Given the description of an element on the screen output the (x, y) to click on. 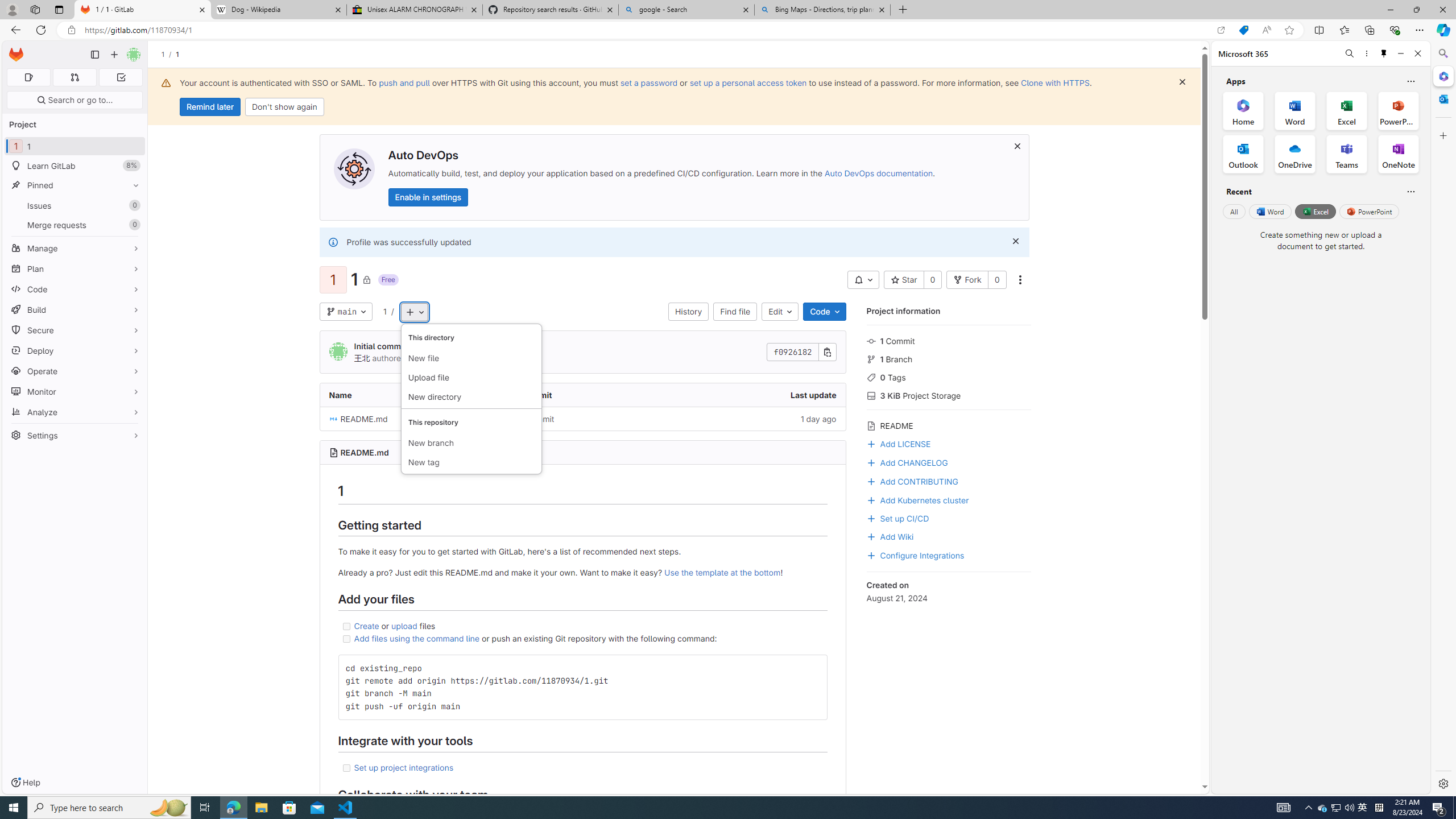
11 (74, 145)
New fileUpload fileNew directory (470, 366)
Deploy (74, 350)
Word (1269, 210)
New tag (470, 461)
3 KiB Project Storage (948, 394)
Add LICENSE (898, 442)
Learn GitLab 8% (74, 165)
google - Search (685, 9)
1/ (168, 53)
Is this helpful? (1410, 191)
Class: s16 position-relative file-icon (333, 419)
